Given the description of an element on the screen output the (x, y) to click on. 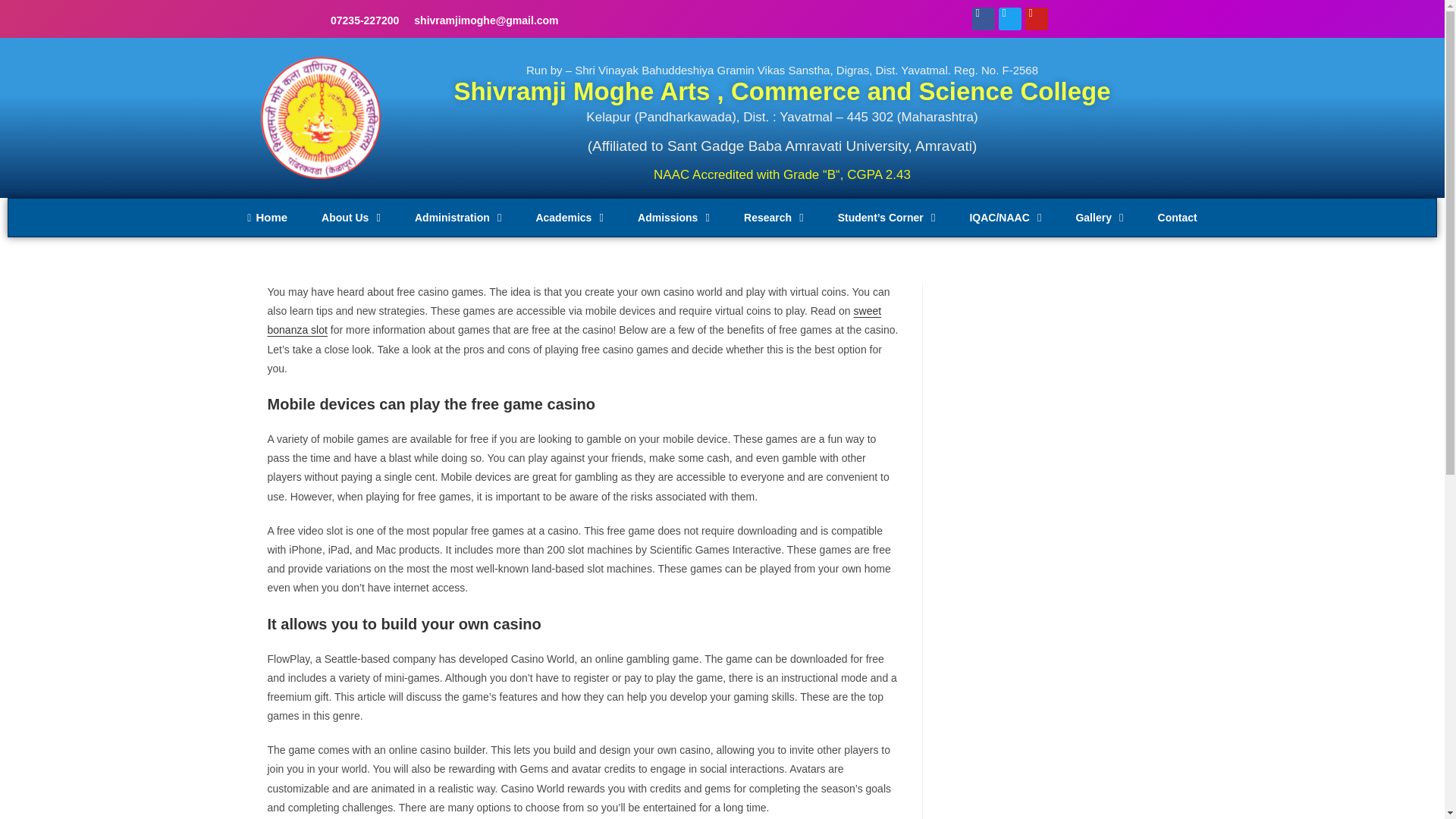
Academics (571, 217)
About Us (351, 217)
Administration (458, 217)
Home (268, 217)
